Given the description of an element on the screen output the (x, y) to click on. 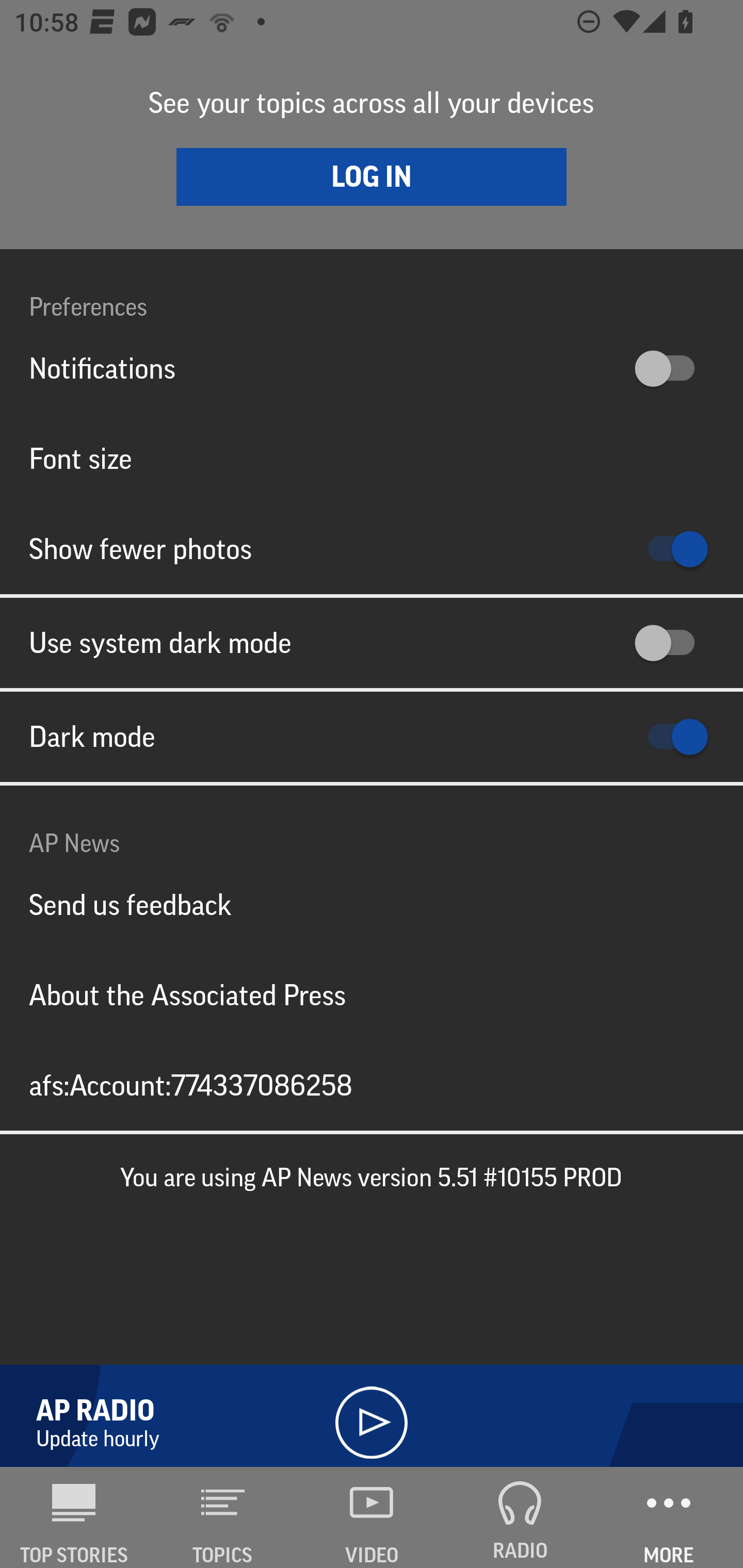
LOG IN (371, 176)
Notifications (371, 368)
Font size (371, 458)
Show fewer photos (371, 548)
Use system dark mode (371, 642)
Dark mode (371, 736)
Send us feedback (371, 904)
About the Associated Press (371, 994)
afs:Account:774337086258 (371, 1084)
AP RADIO Update hourly (371, 1410)
AP News TOP STORIES (74, 1517)
TOPICS (222, 1517)
VIDEO (371, 1517)
RADIO (519, 1517)
MORE (668, 1517)
